Given the description of an element on the screen output the (x, y) to click on. 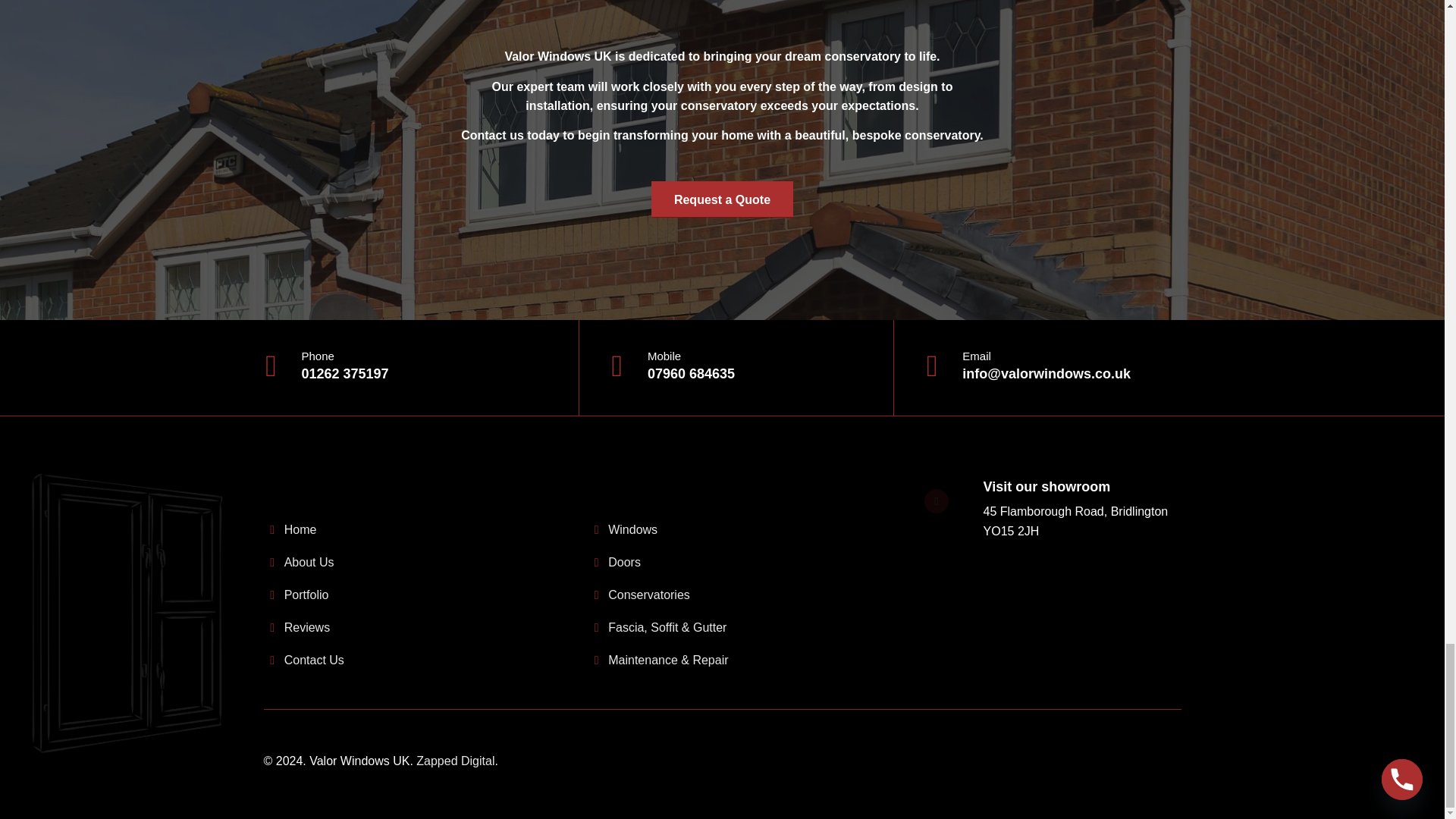
Doors (624, 562)
Windows (633, 529)
Conservatories (649, 594)
Home (300, 529)
Reviews (306, 626)
Conservatories (649, 594)
Contact Us (313, 659)
01262 375197 (344, 373)
Doors (624, 562)
Portfolio (306, 594)
